Given the description of an element on the screen output the (x, y) to click on. 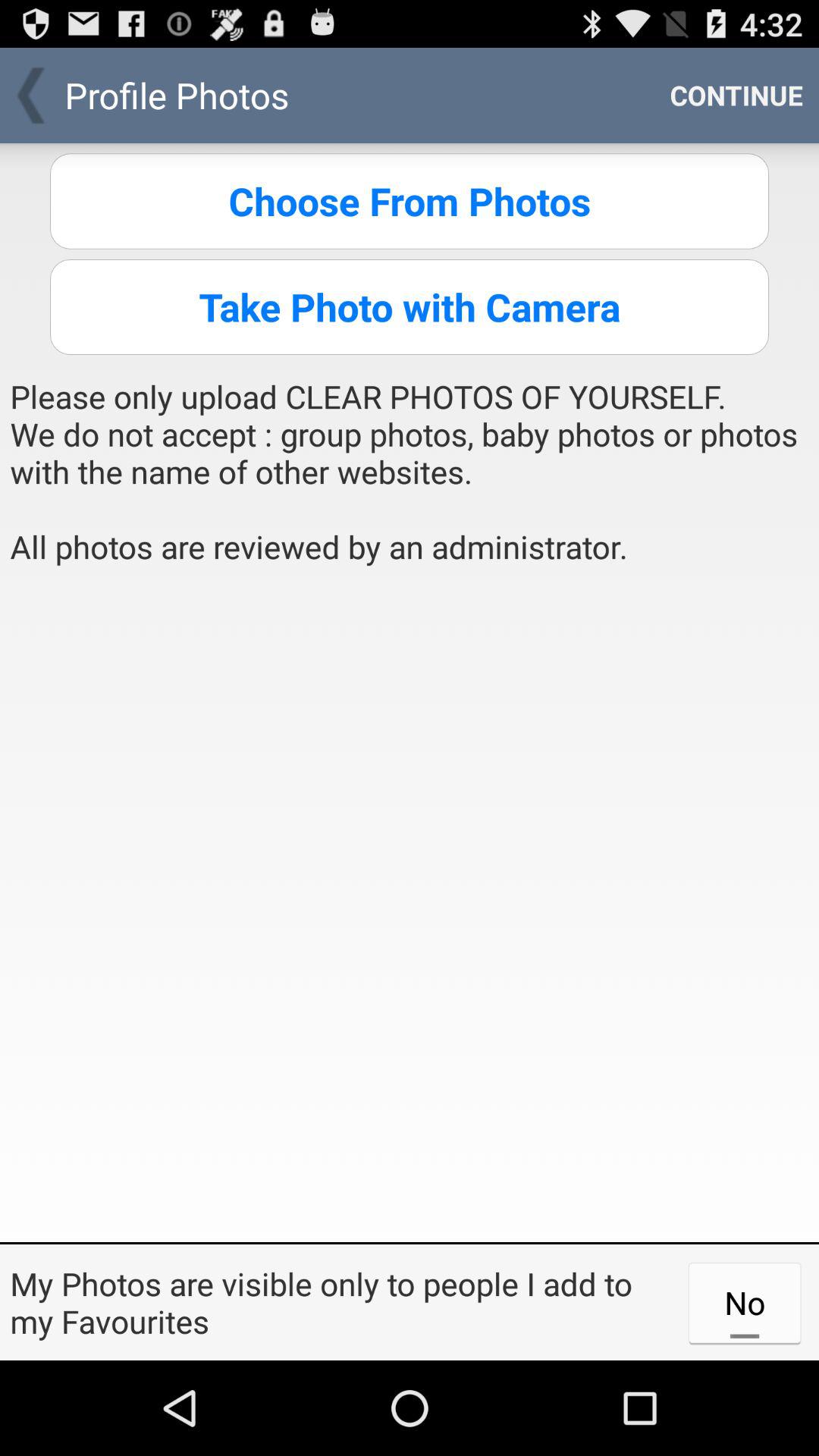
turn off the icon to the right of the my photos are app (744, 1302)
